Given the description of an element on the screen output the (x, y) to click on. 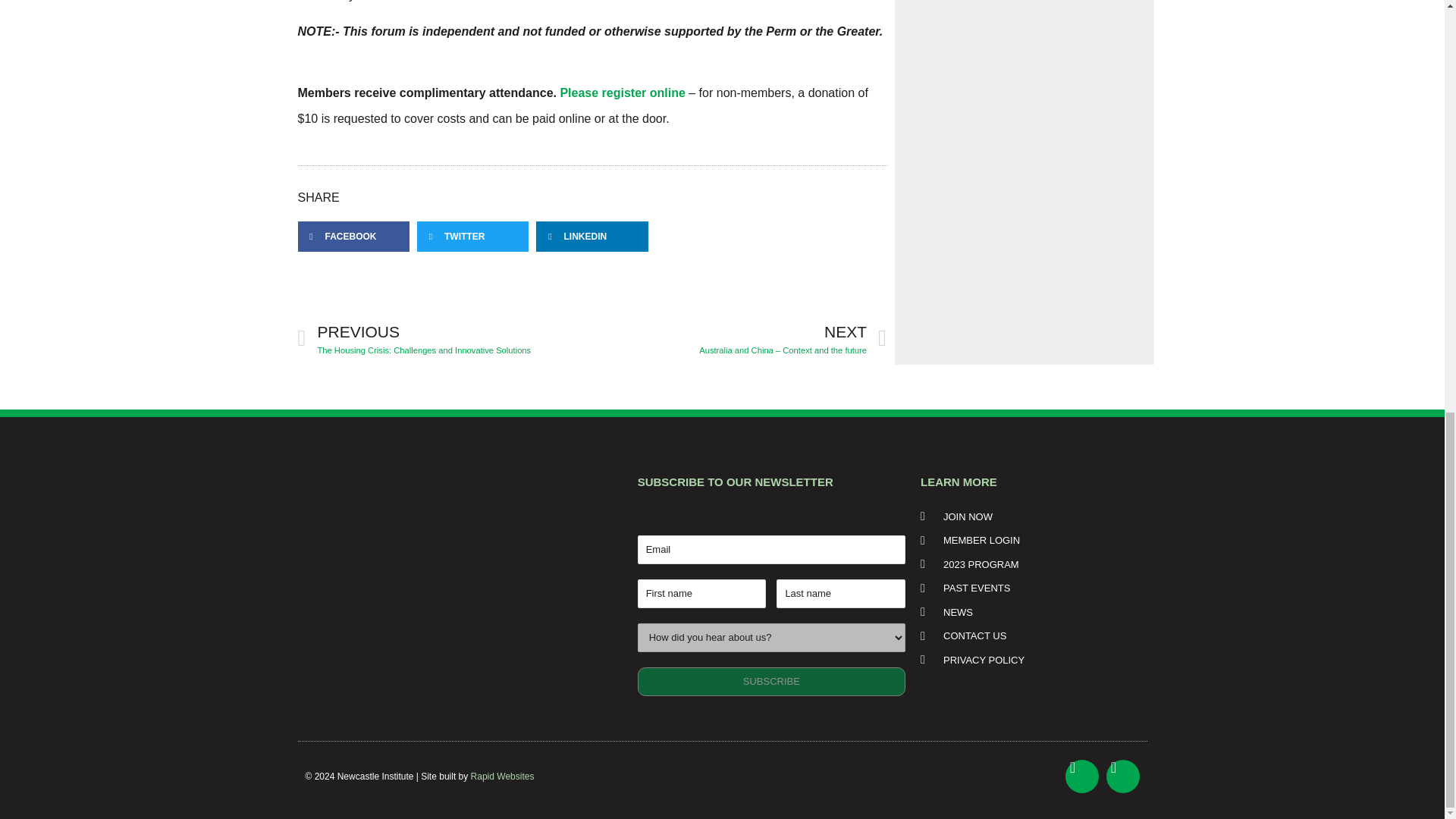
Rapid Websites (502, 776)
Please register online (621, 92)
PRIVACY POLICY (1027, 660)
JOIN NOW (1027, 516)
PAST EVENTS (1027, 588)
2023 PROGRAM (1027, 564)
MEMBER LOGIN (1027, 540)
SUBSCRIBE (771, 681)
CONTACT US (1027, 635)
